Given the description of an element on the screen output the (x, y) to click on. 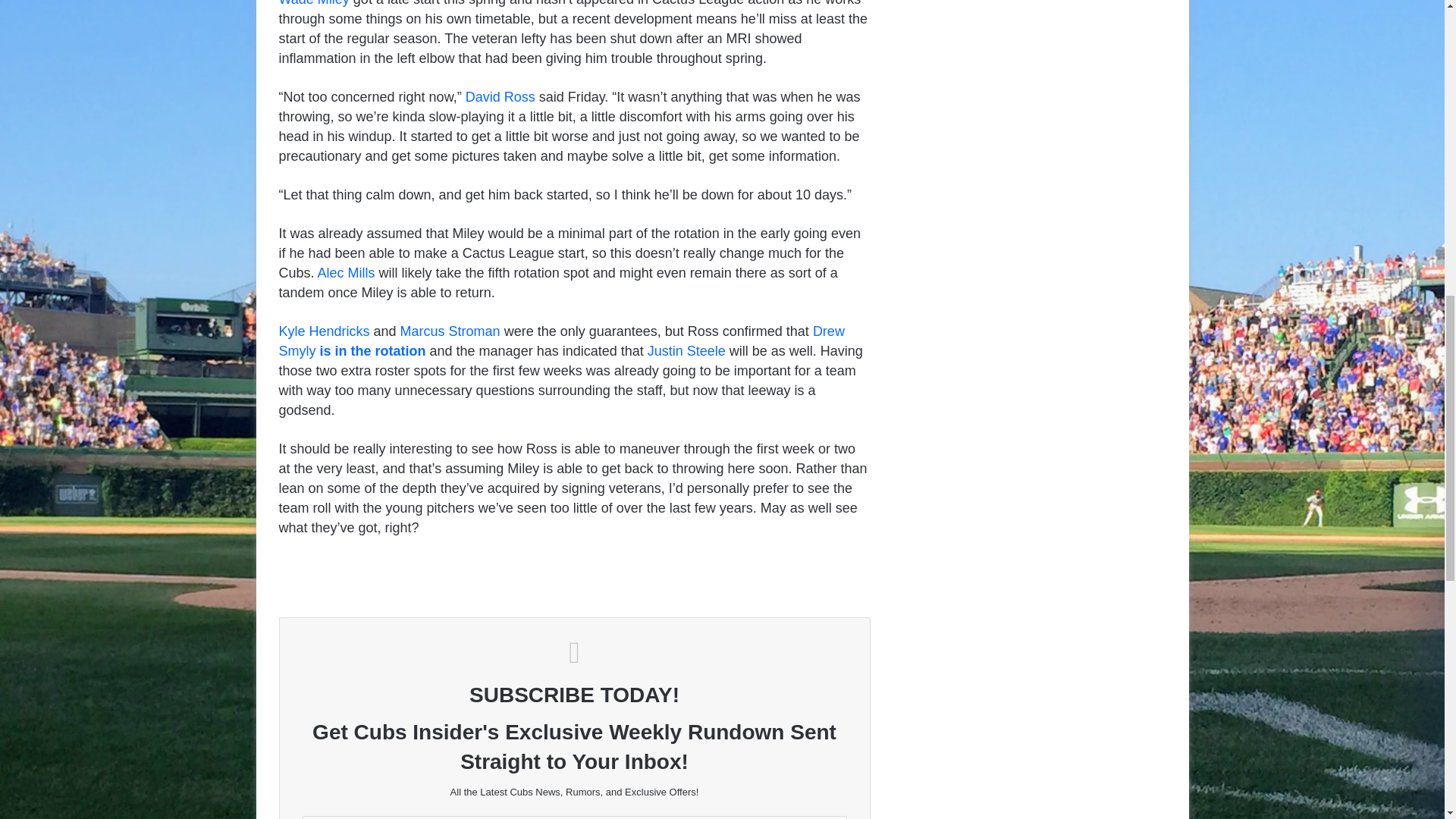
Wade Miley (314, 3)
Alec Mills (346, 272)
David Ross (500, 96)
